Given the description of an element on the screen output the (x, y) to click on. 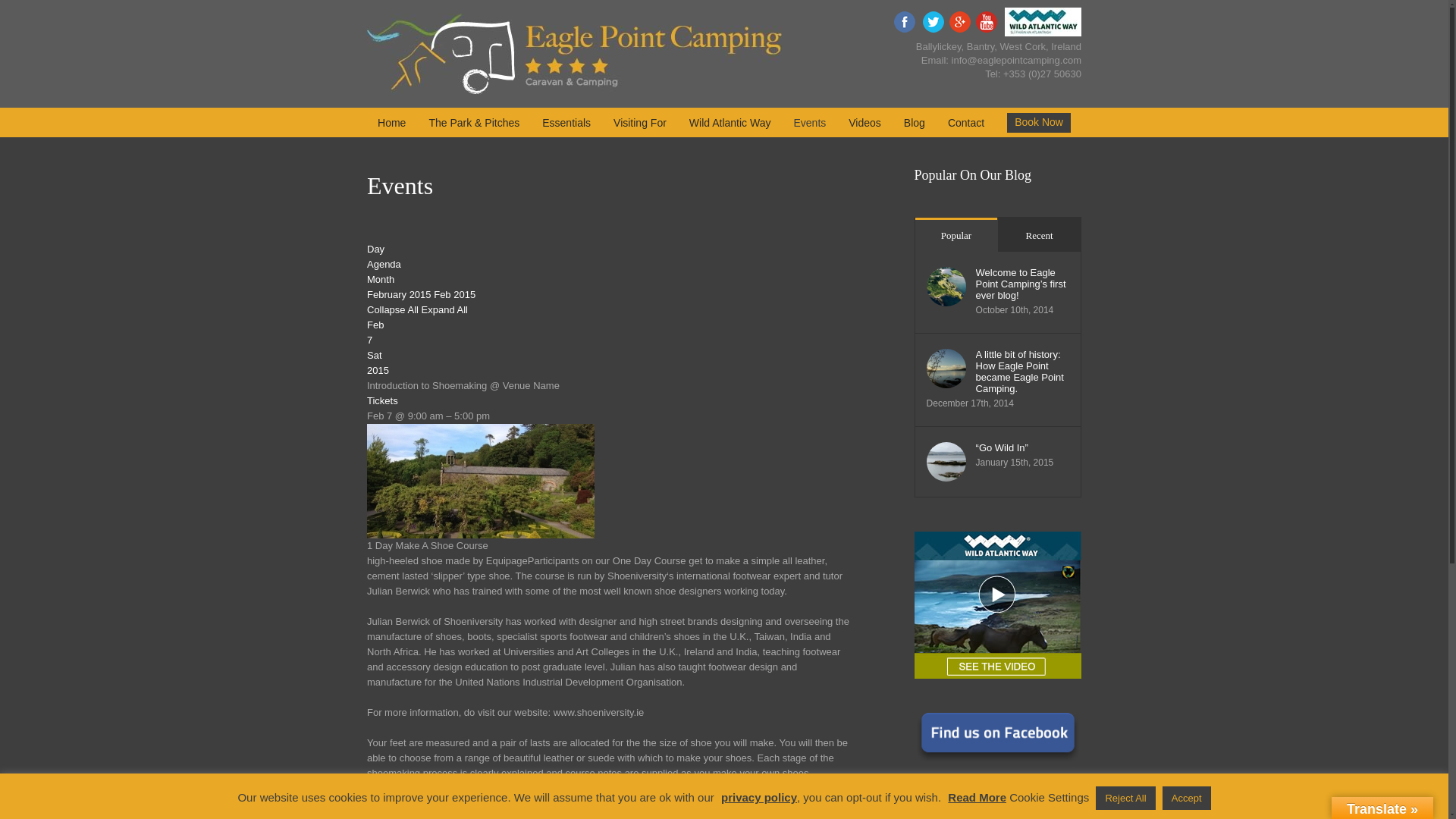
Wild Atlantic Way (729, 122)
Choose a date using calendar (421, 816)
Home (391, 122)
Events (809, 122)
Choose a date using calendar (421, 294)
Visiting For (639, 122)
Essentials (566, 122)
Videos (864, 122)
Blog (914, 122)
